Given the description of an element on the screen output the (x, y) to click on. 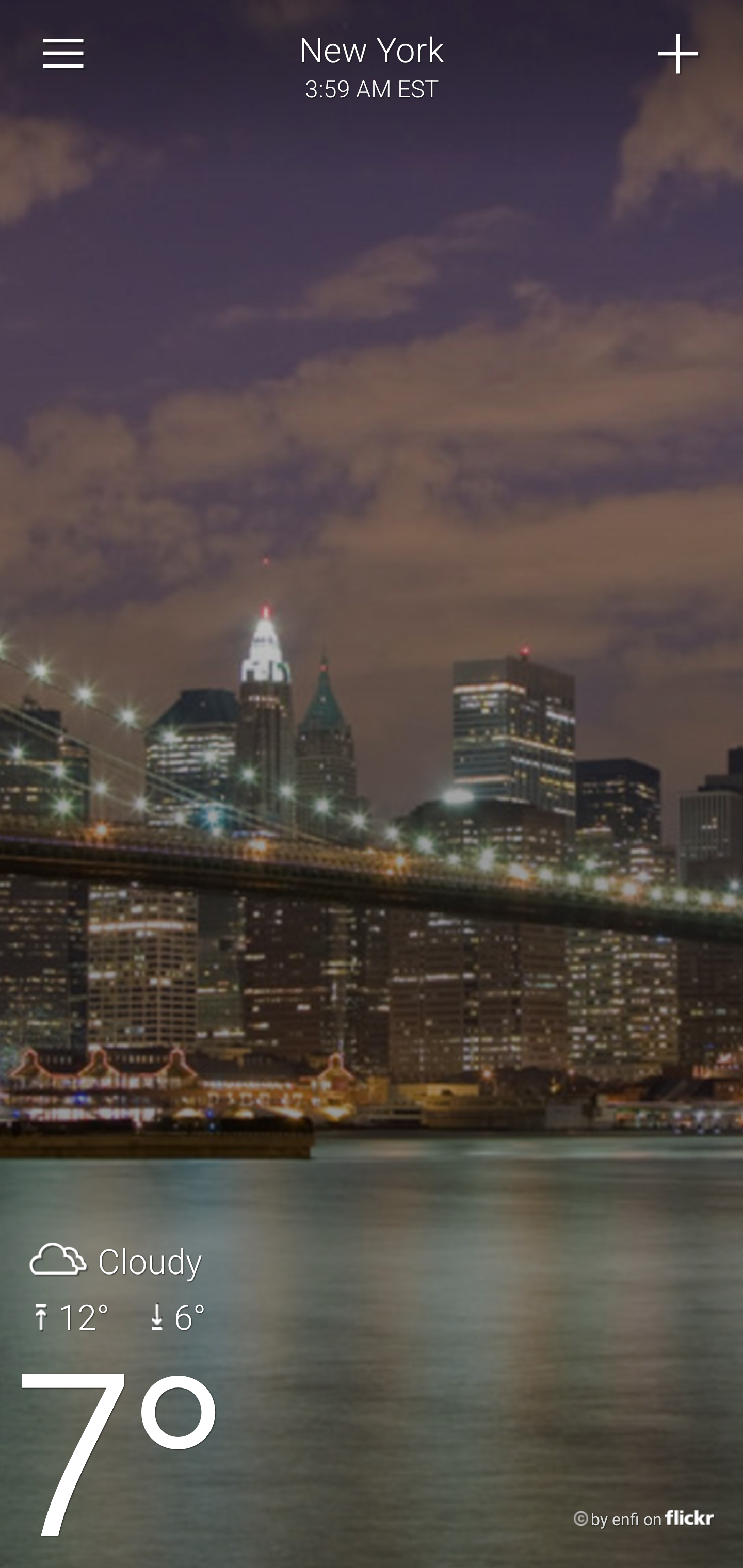
Sidebar (64, 54)
Add City (678, 53)
by enfi on Background photo by: enfi on Flickr (625, 1519)
